Given the description of an element on the screen output the (x, y) to click on. 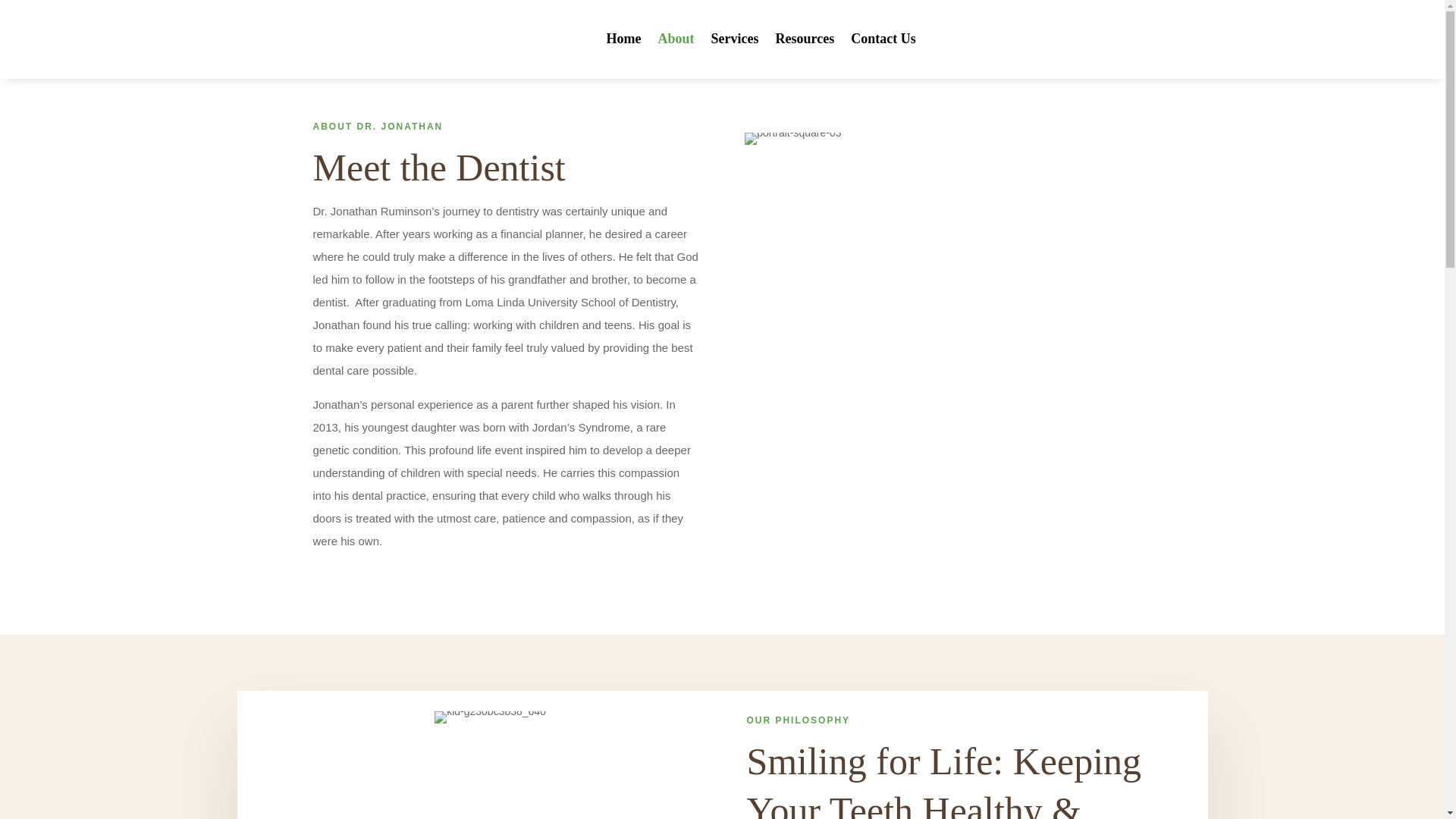
Resources (804, 39)
Contact Us (882, 39)
Ruminson Family-5.jp (792, 138)
